Given the description of an element on the screen output the (x, y) to click on. 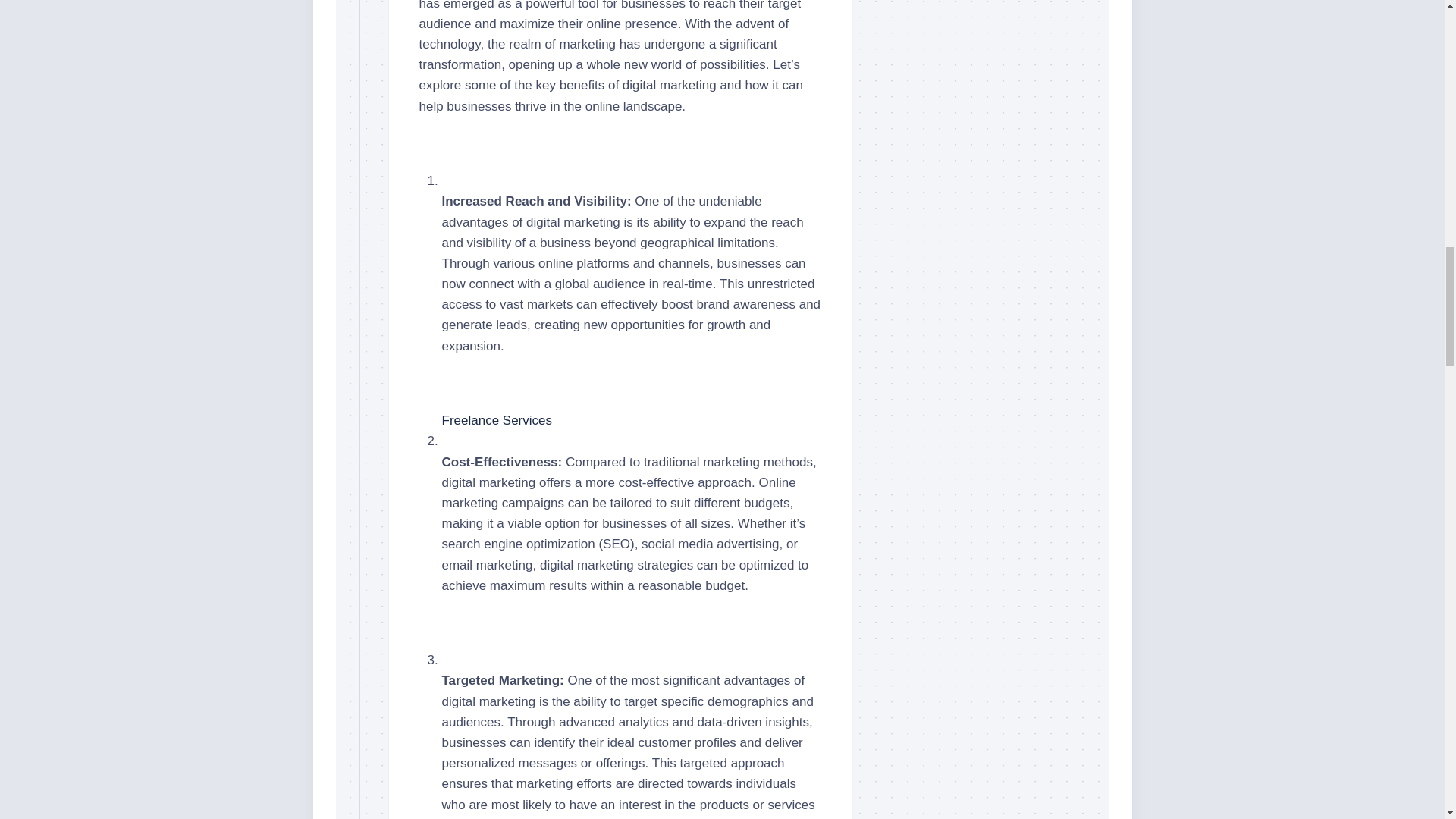
Freelance Services (496, 420)
